Given the description of an element on the screen output the (x, y) to click on. 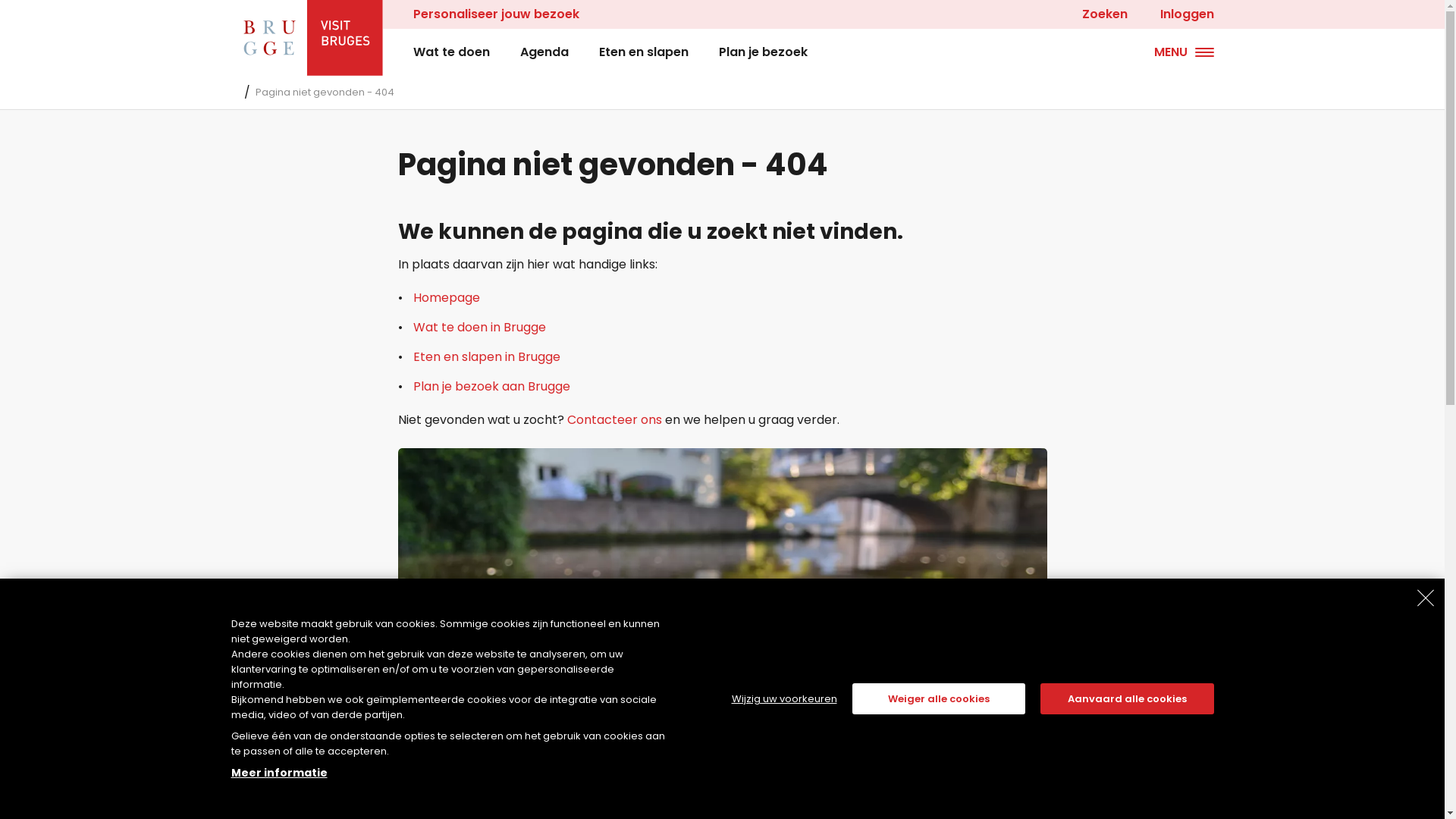
Homepage Element type: text (445, 296)
Wat te doen in Brugge Element type: text (478, 326)
Personaliseer jouw bezoek Element type: text (498, 14)
Wat te doen Element type: text (450, 51)
MENU Element type: text (1184, 51)
Weiger alle cookies Element type: text (939, 699)
Plan je bezoek Element type: text (762, 51)
Plan je bezoek aan Brugge Element type: text (490, 386)
Eten en slapen in Brugge Element type: text (485, 355)
Aanvaard alle cookies Element type: text (1127, 699)
Wijzig uw voorkeuren Element type: text (783, 698)
Eten en slapen Element type: text (643, 51)
Agenda Element type: text (544, 51)
Meer informatie Element type: text (278, 772)
Inloggen Element type: text (1184, 14)
Zoeken Element type: text (48, 17)
Zoeken Element type: text (1095, 14)
Contacteer ons Element type: text (614, 419)
